Given the description of an element on the screen output the (x, y) to click on. 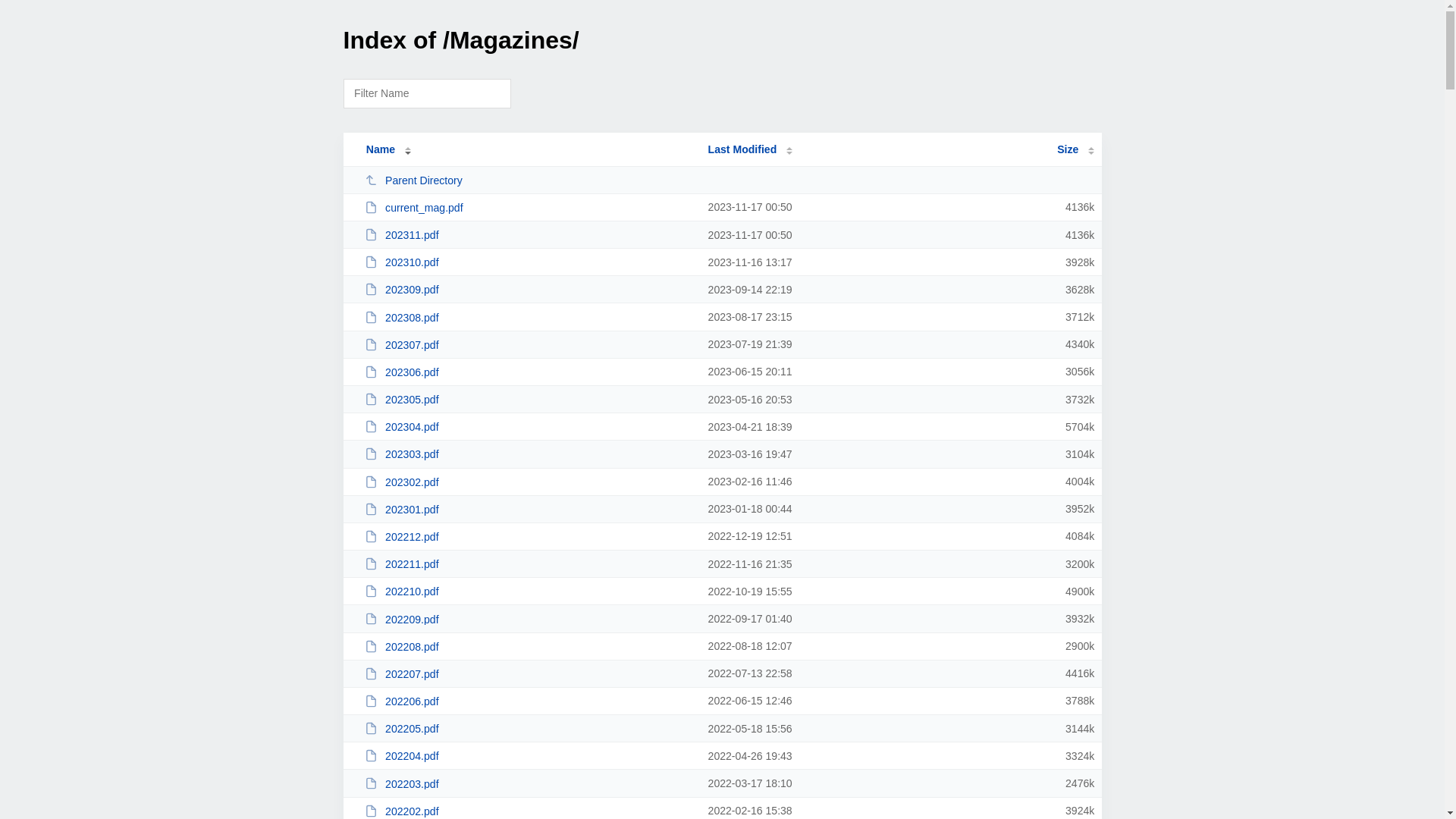
current_mag.pdf Element type: text (529, 206)
Parent Directory Element type: text (529, 179)
202209.pdf Element type: text (529, 618)
202311.pdf Element type: text (529, 234)
202207.pdf Element type: text (529, 673)
202305.pdf Element type: text (529, 398)
202206.pdf Element type: text (529, 700)
202203.pdf Element type: text (529, 783)
Size Element type: text (1075, 149)
202212.pdf Element type: text (529, 536)
202306.pdf Element type: text (529, 371)
202302.pdf Element type: text (529, 481)
202204.pdf Element type: text (529, 755)
202211.pdf Element type: text (529, 563)
202309.pdf Element type: text (529, 288)
202303.pdf Element type: text (529, 453)
Last Modified Element type: text (750, 149)
202307.pdf Element type: text (529, 344)
202202.pdf Element type: text (529, 810)
Name Element type: text (380, 149)
202304.pdf Element type: text (529, 426)
202301.pdf Element type: text (529, 508)
202210.pdf Element type: text (529, 590)
202208.pdf Element type: text (529, 646)
202308.pdf Element type: text (529, 316)
202310.pdf Element type: text (529, 261)
202205.pdf Element type: text (529, 727)
